Given the description of an element on the screen output the (x, y) to click on. 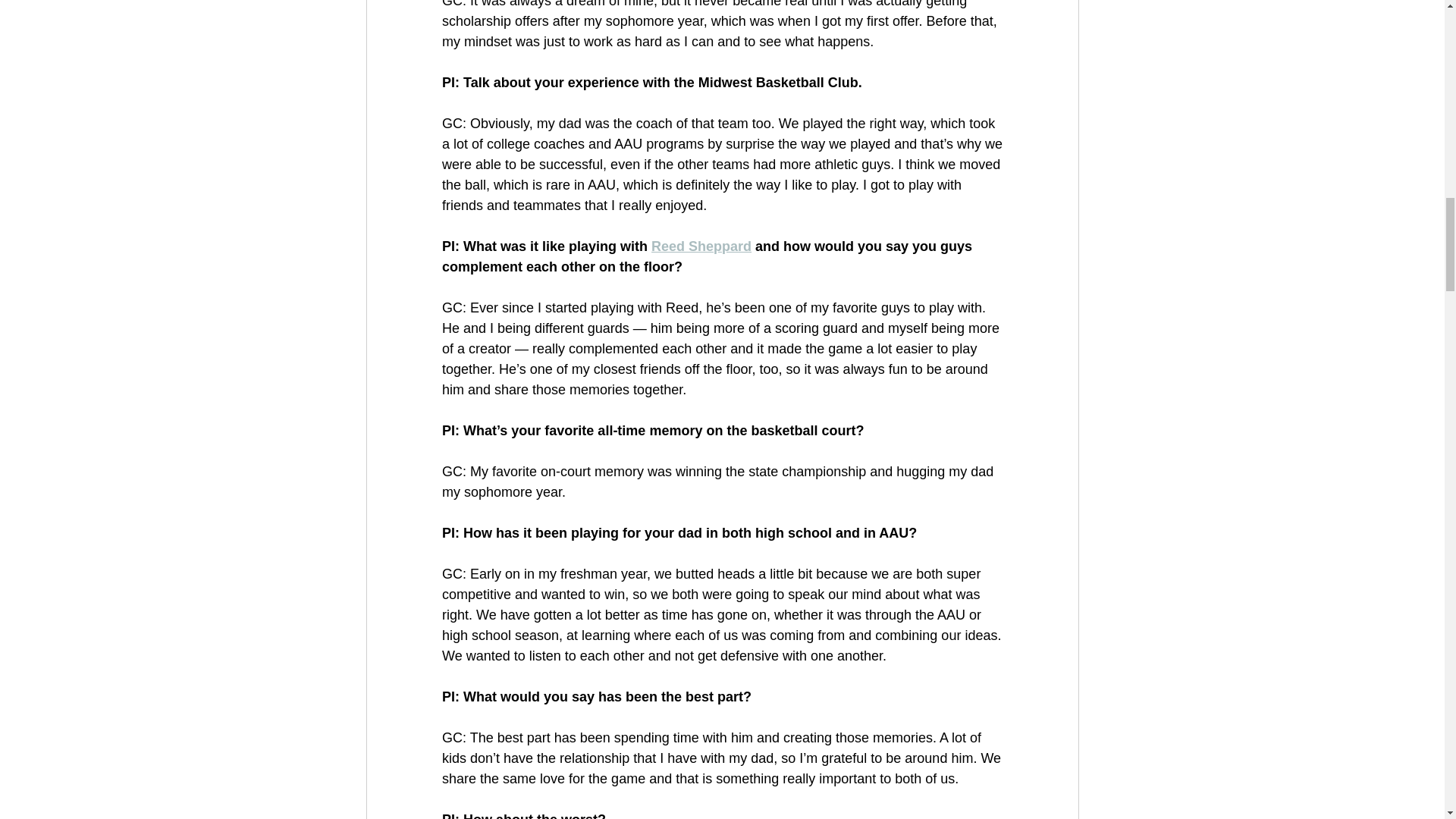
Reed Sheppard (700, 246)
